Given the description of an element on the screen output the (x, y) to click on. 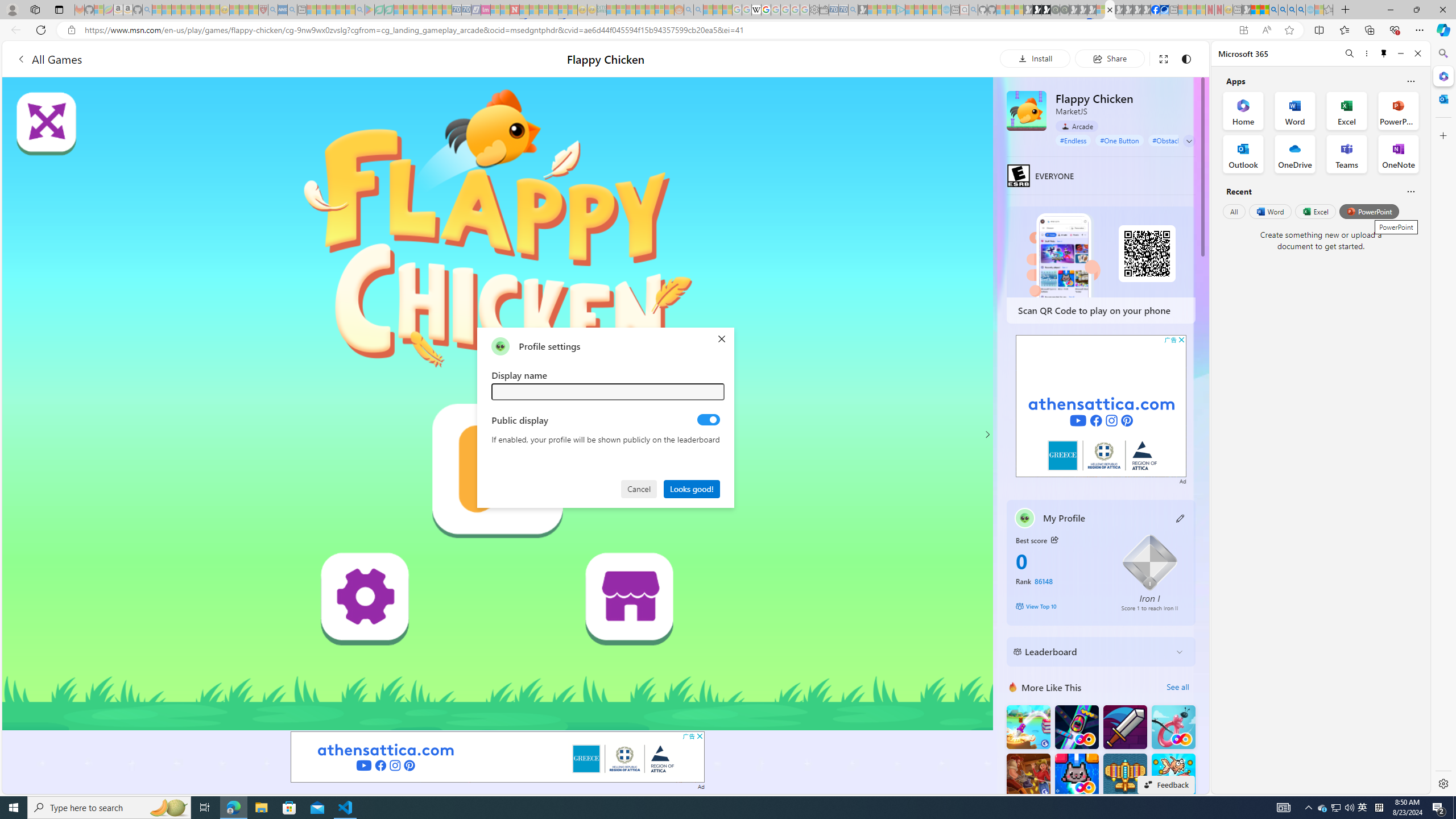
Kitten Force FRVR (1076, 775)
Looks good! (691, 488)
View Top 10 (1060, 605)
Advertisement (1101, 405)
2009 Bing officially replaced Live Search on June 3 - Search (1283, 9)
See all (1177, 687)
